Given the description of an element on the screen output the (x, y) to click on. 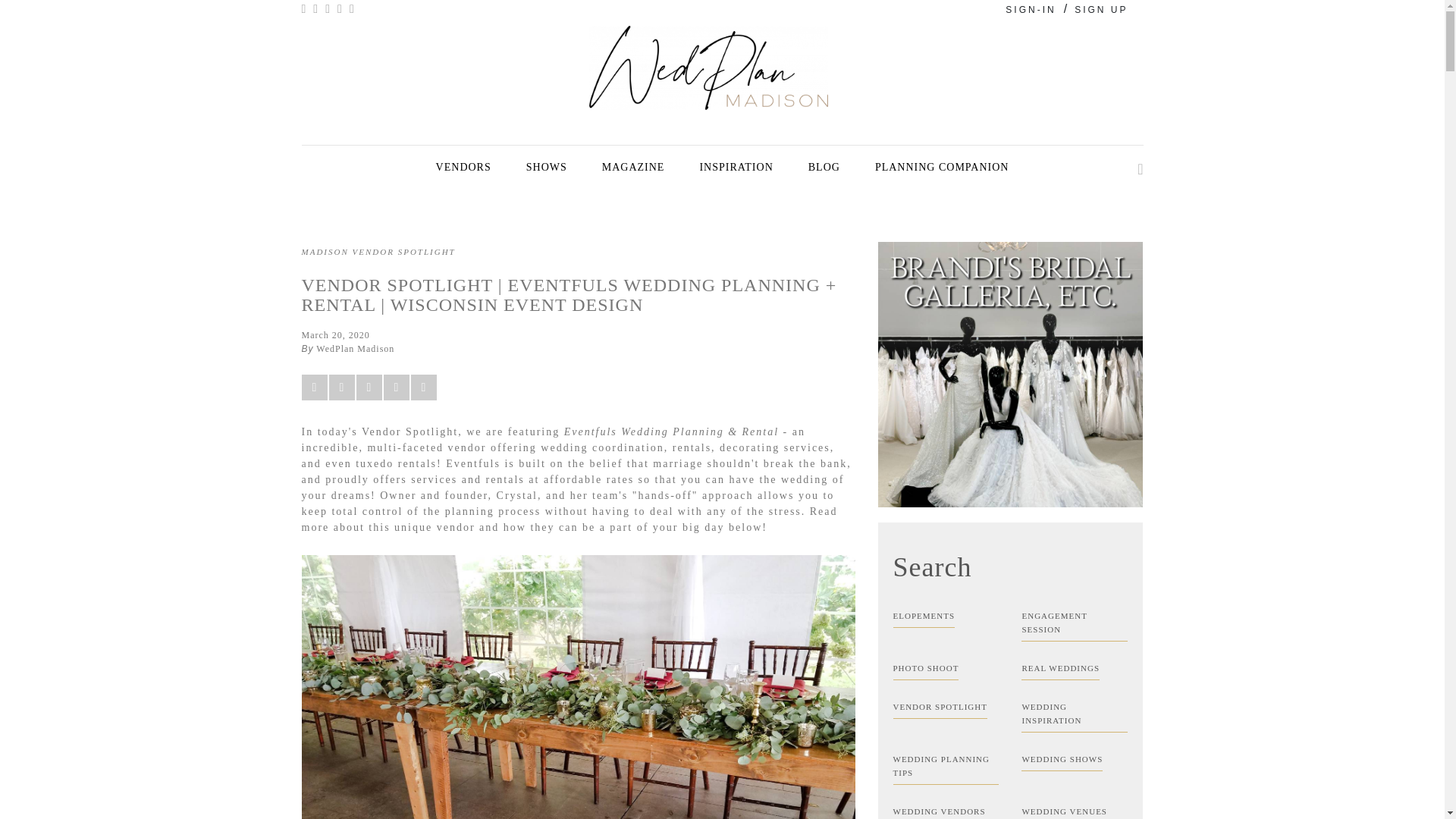
REAL WEDDINGS (1074, 668)
PLANNING COMPANION (942, 166)
MAGAZINE (633, 166)
SIGN-IN (1030, 9)
PHOTO SHOOT (945, 668)
WEDDING VENDORS (945, 809)
BLOG (823, 166)
ELOPEMENTS (945, 616)
WEDDING INSPIRATION (1074, 713)
SHOWS (546, 166)
